Given the description of an element on the screen output the (x, y) to click on. 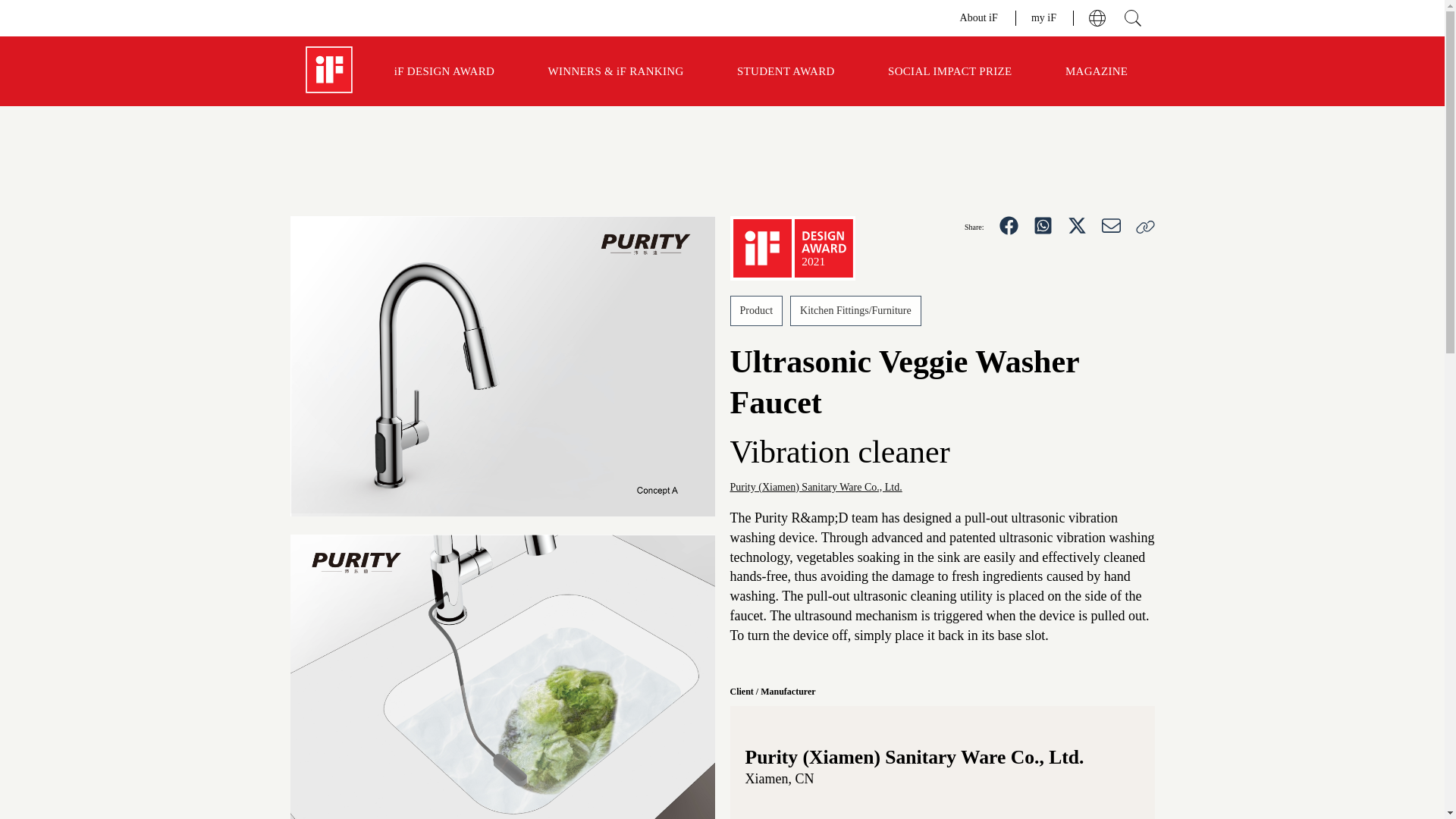
my iF (1044, 16)
2021 (791, 248)
About iF (979, 16)
